Given the description of an element on the screen output the (x, y) to click on. 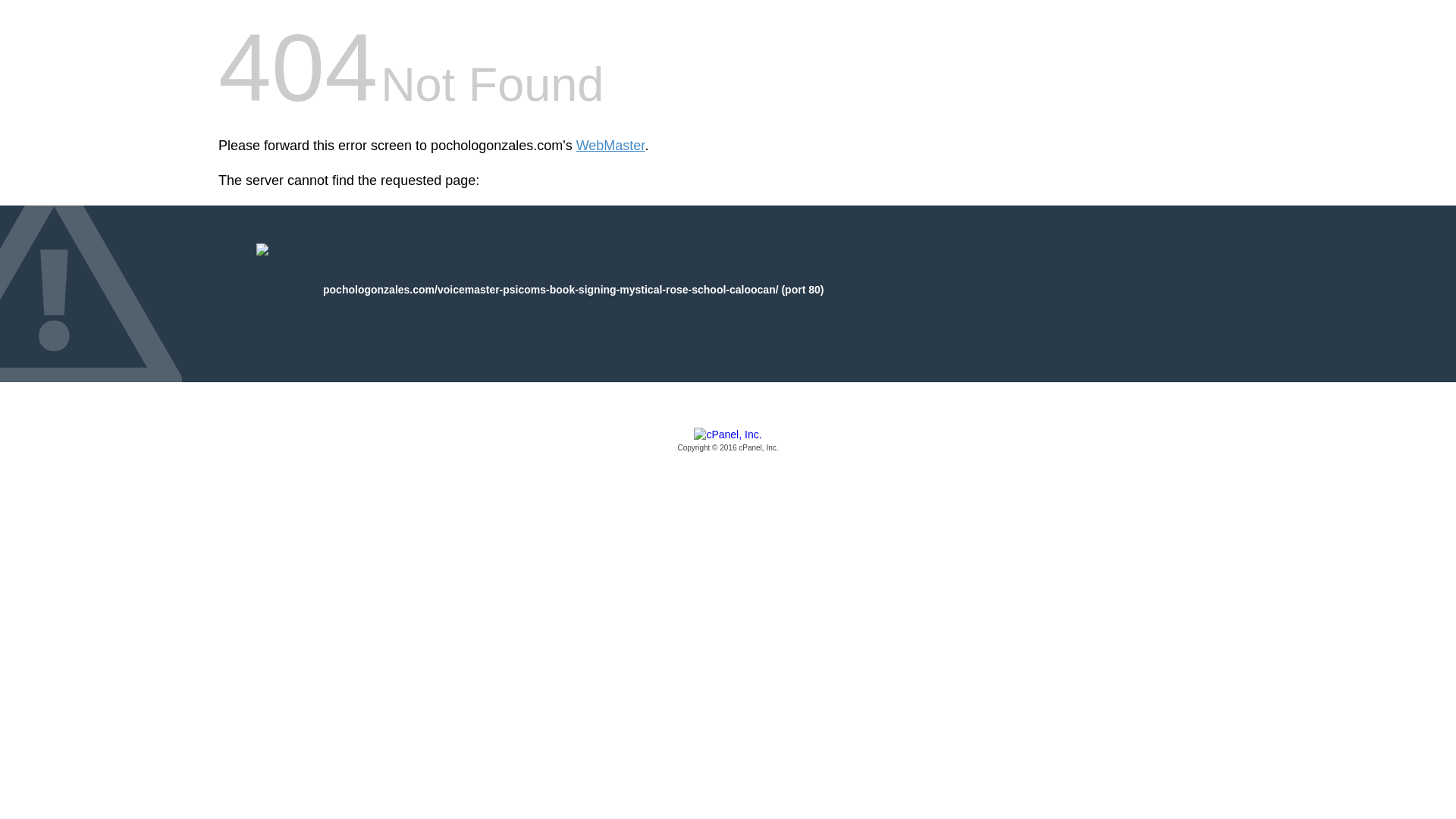
cPanel, Inc. (727, 440)
WebMaster (610, 145)
